Given the description of an element on the screen output the (x, y) to click on. 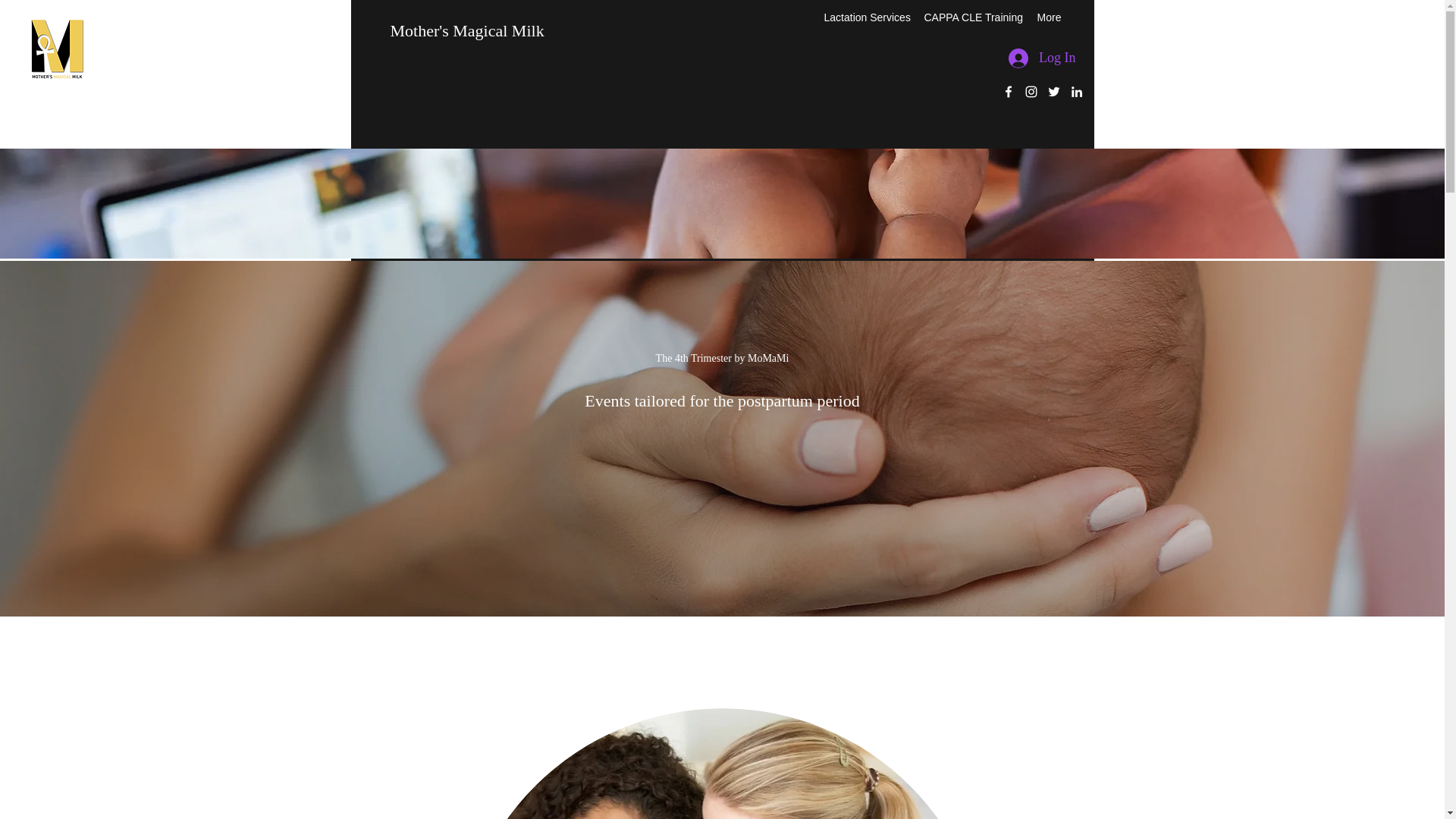
Lactation Services (865, 16)
Mother's Magical Milk (466, 30)
CAPPA CLE Training (971, 16)
Log In (1041, 58)
